Given the description of an element on the screen output the (x, y) to click on. 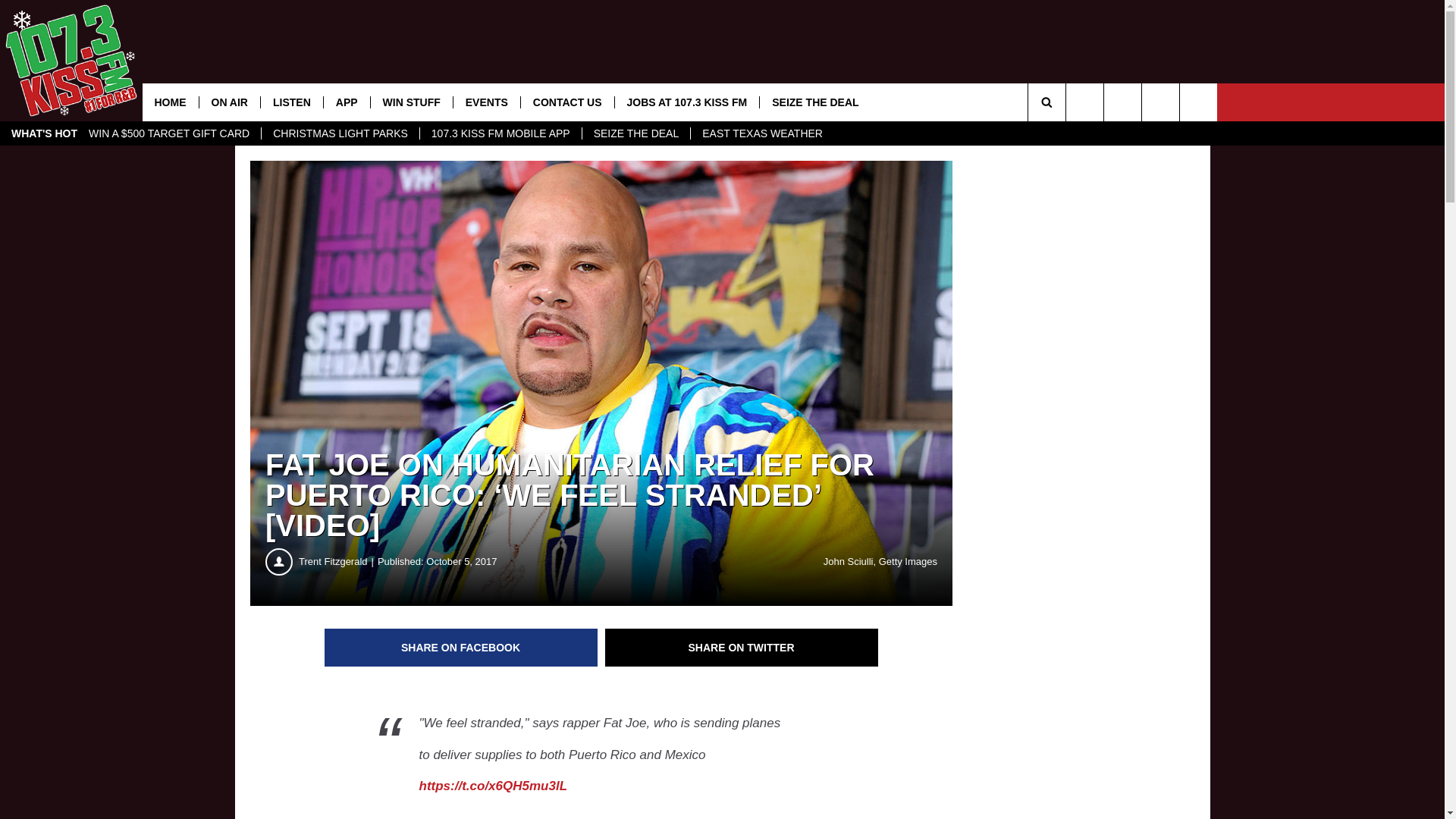
Visit us on Youtube Element type: text (1084, 102)
CONTACT US Element type: text (567, 102)
WIN A $500 TARGET GIFT CARD Element type: text (168, 133)
SHARE ON TWITTER Element type: text (741, 647)
HOME Element type: text (170, 102)
Visit us on Twitter Element type: text (1160, 102)
Visit us on Facebook Element type: text (1122, 102)
SEIZE THE DEAL Element type: text (814, 102)
107.3 KISS FM MOBILE APP Element type: text (500, 133)
CHRISTMAS LIGHT PARKS Element type: text (339, 133)
Visit us on Instagram Element type: text (1198, 102)
Trent Fitzgerald Element type: text (337, 561)
JOBS AT 107.3 KISS FM Element type: text (686, 102)
ON AIR Element type: text (229, 102)
SEIZE THE DEAL Element type: text (635, 133)
https://t.co/x6QH5mu3lL Element type: text (492, 785)
LISTEN Element type: text (291, 102)
EVENTS Element type: text (486, 102)
WIN STUFF Element type: text (411, 102)
EAST TEXAS WEATHER Element type: text (762, 133)
SHARE ON FACEBOOK Element type: text (460, 647)
APP Element type: text (346, 102)
